Given the description of an element on the screen output the (x, y) to click on. 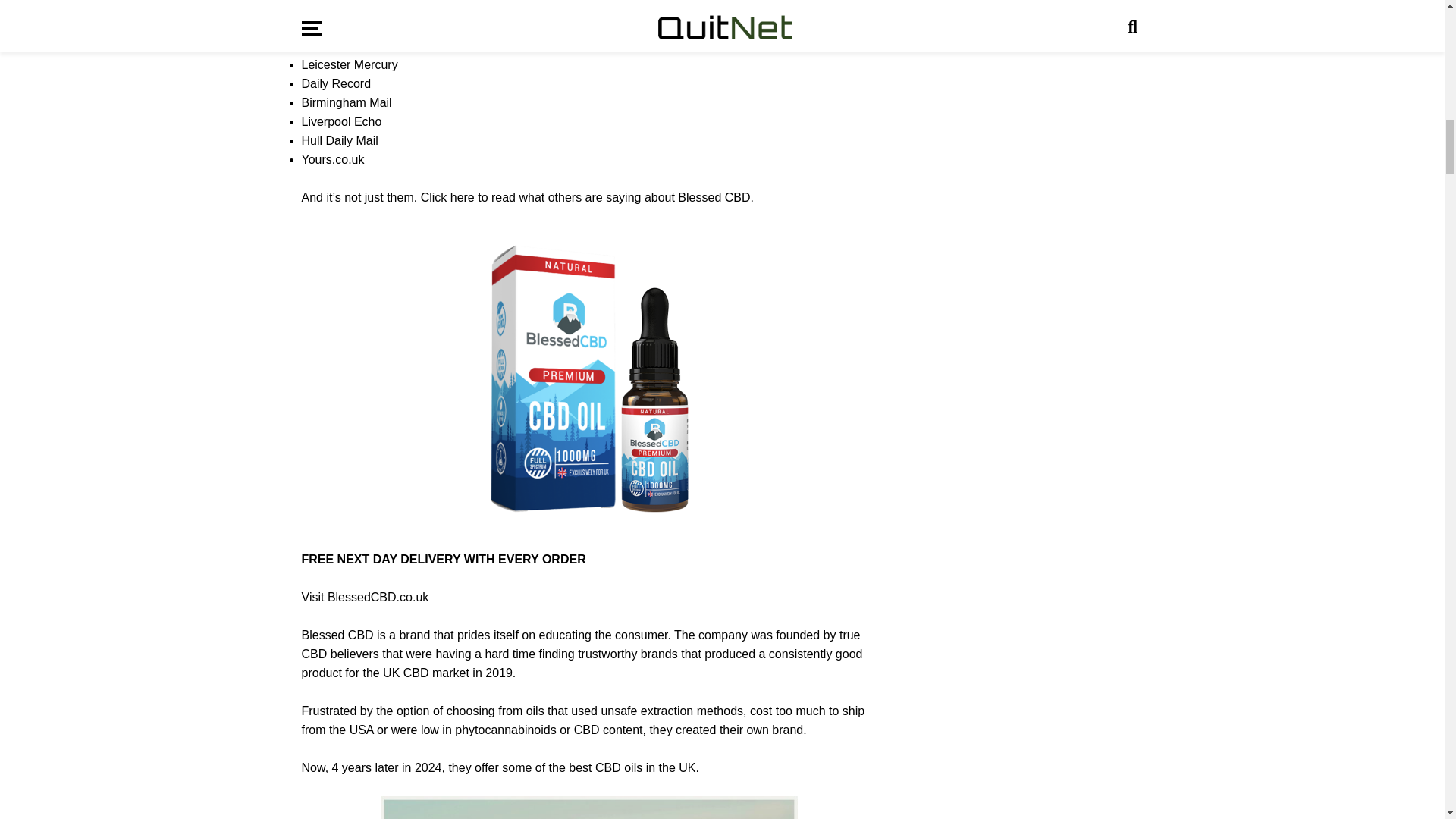
Mirror (317, 7)
Daily Record (336, 83)
Quitnet (320, 45)
Hull Daily Mail (339, 140)
Leicester Mercury (349, 64)
Liverpool Echo (341, 121)
Birmingham Mail (346, 102)
Visit BlessedCBD.co.uk (365, 596)
Click here to read what others are saying about Blessed CBD. (587, 196)
Express (323, 26)
Yours.co.uk (333, 159)
